Given the description of an element on the screen output the (x, y) to click on. 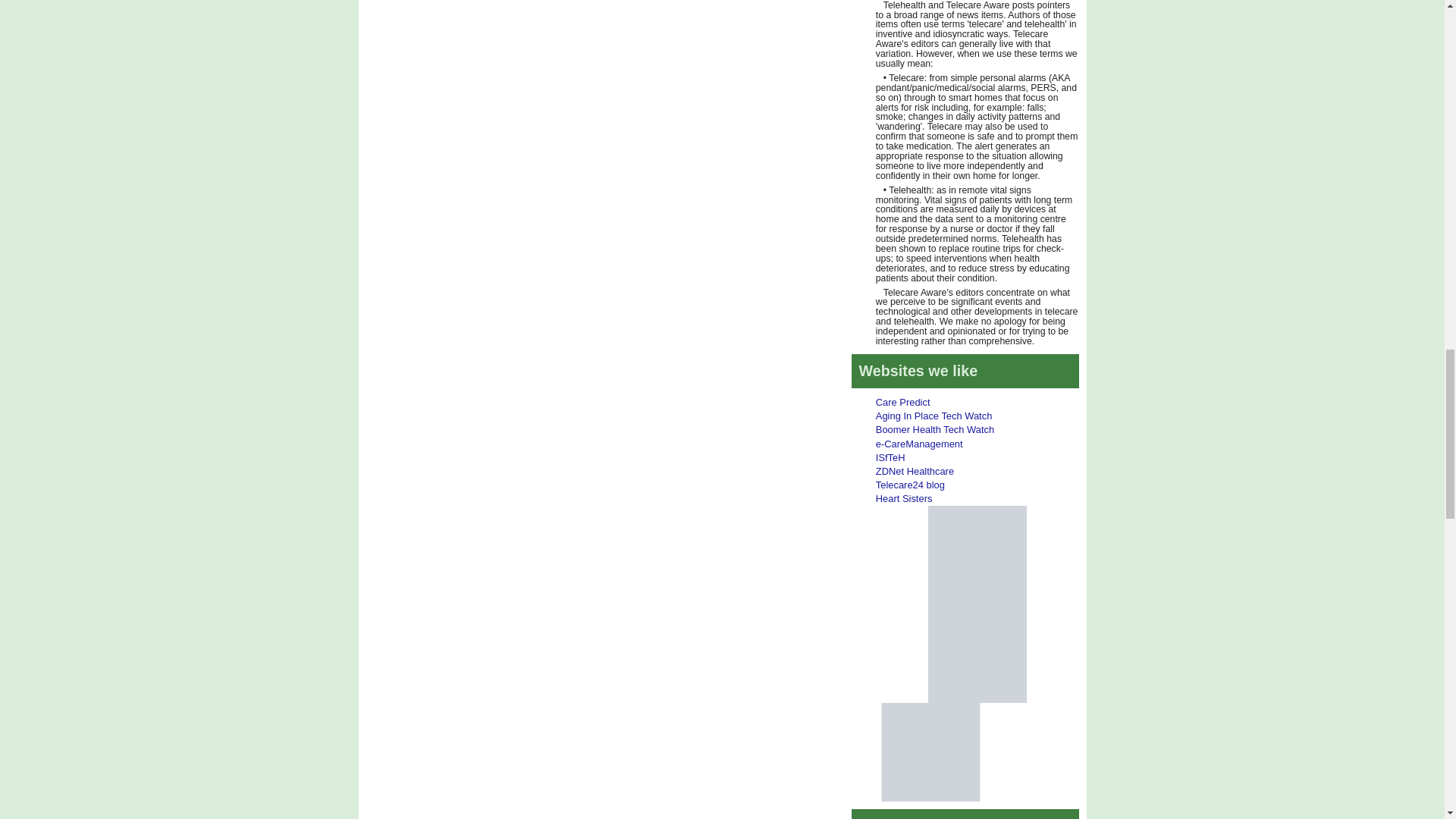
Care Predict (903, 401)
ISfTeH (890, 457)
TTA on Twitter (977, 553)
e-CareManagement (919, 443)
Laurie Orlov's Aging In Place Tech Watch (934, 415)
telecare24 blog (910, 484)
ZDNet Healthcare (914, 471)
Heart Sisters (904, 498)
Boomer Health Tech Watch (935, 429)
